Given the description of an element on the screen output the (x, y) to click on. 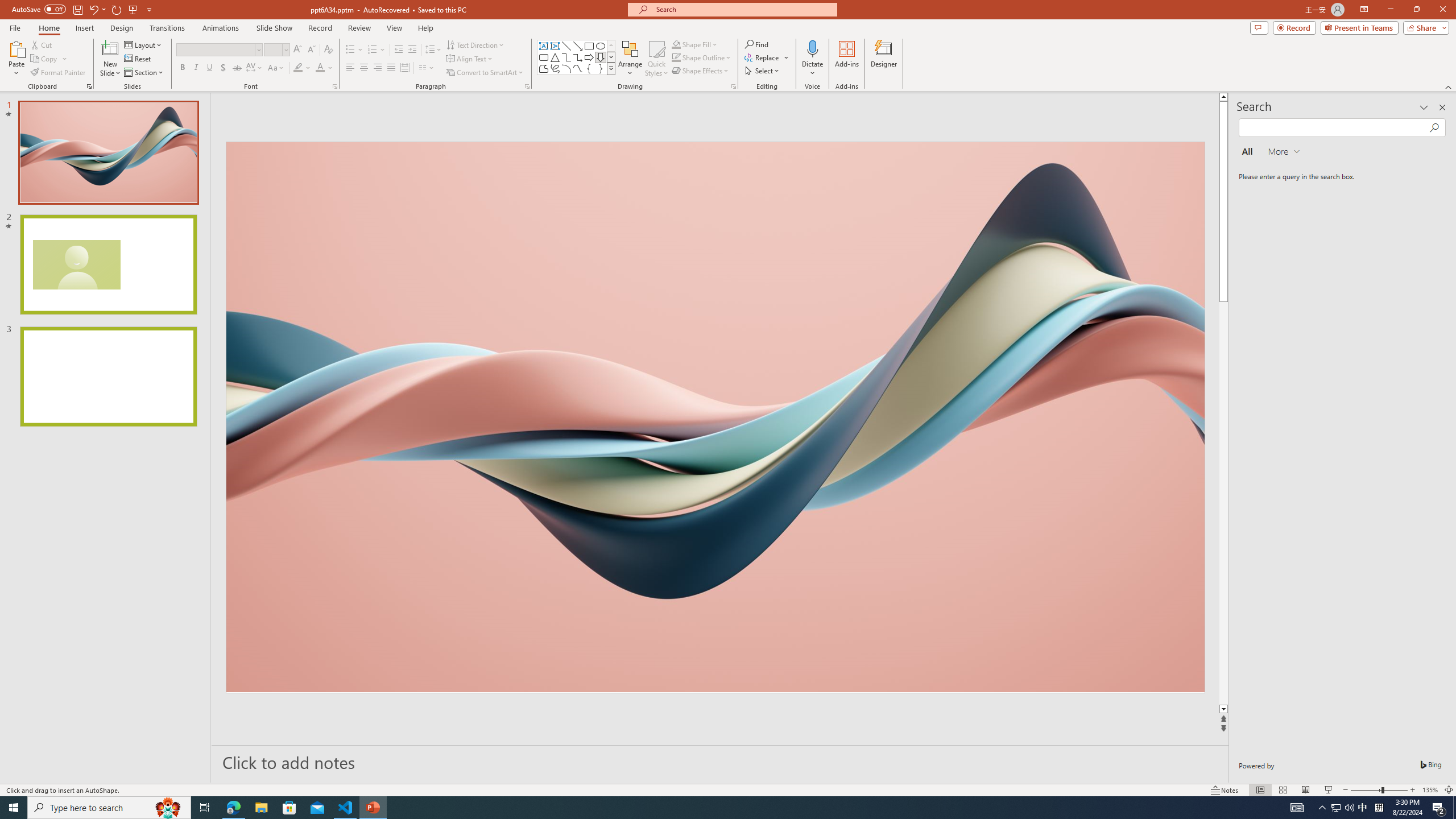
Zoom 135% (1430, 790)
